Given the description of an element on the screen output the (x, y) to click on. 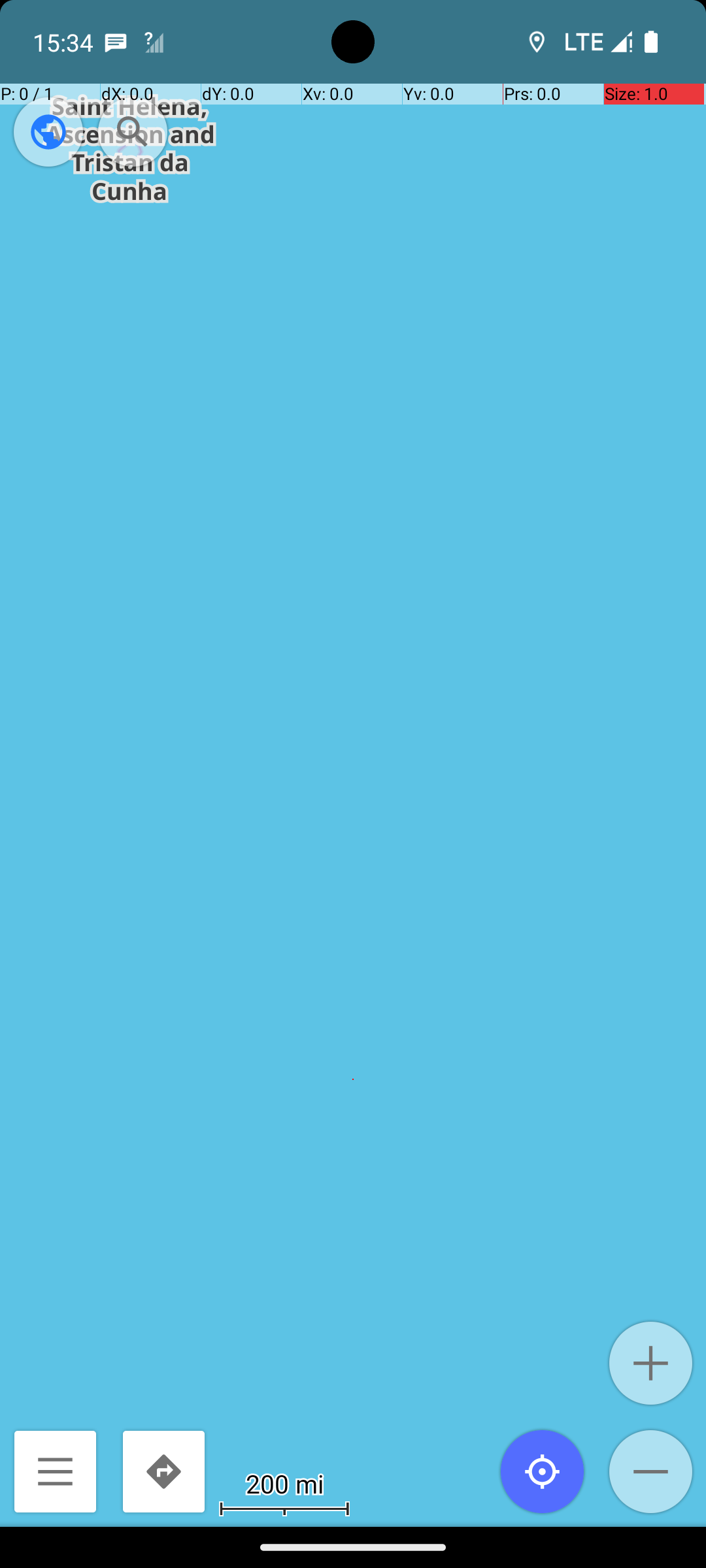
Where am I Element type: android.widget.ImageButton (542, 1471)
